Given the description of an element on the screen output the (x, y) to click on. 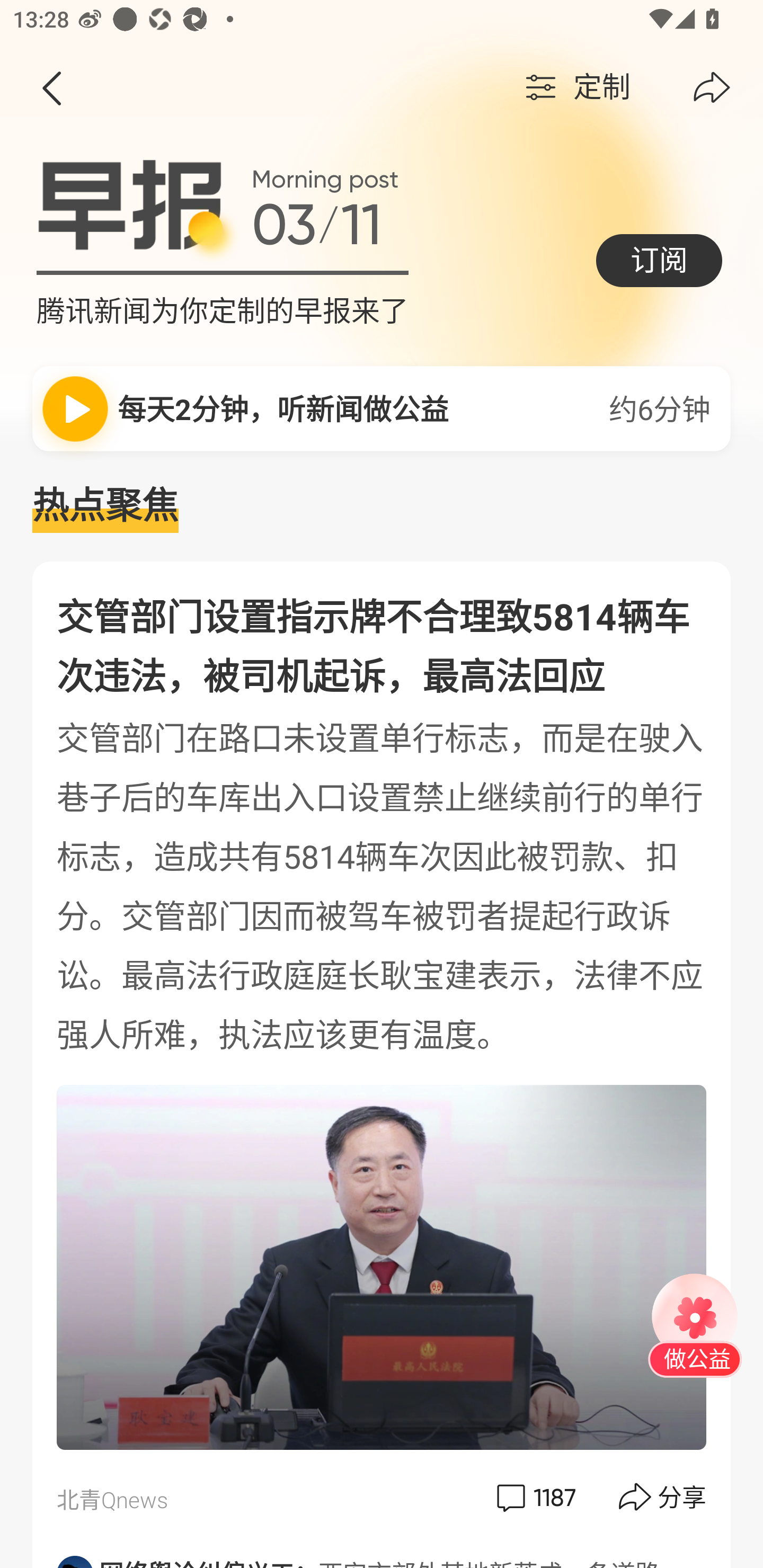
 (50, 87)
 定制 (575, 87)
 (711, 87)
订阅 (658, 259)
 每天2分钟，听新闻做公益 约6分钟 (381, 407)
热点聚焦 (381, 506)
评论  1187 (534, 1497)
 分享 (663, 1497)
